Given the description of an element on the screen output the (x, y) to click on. 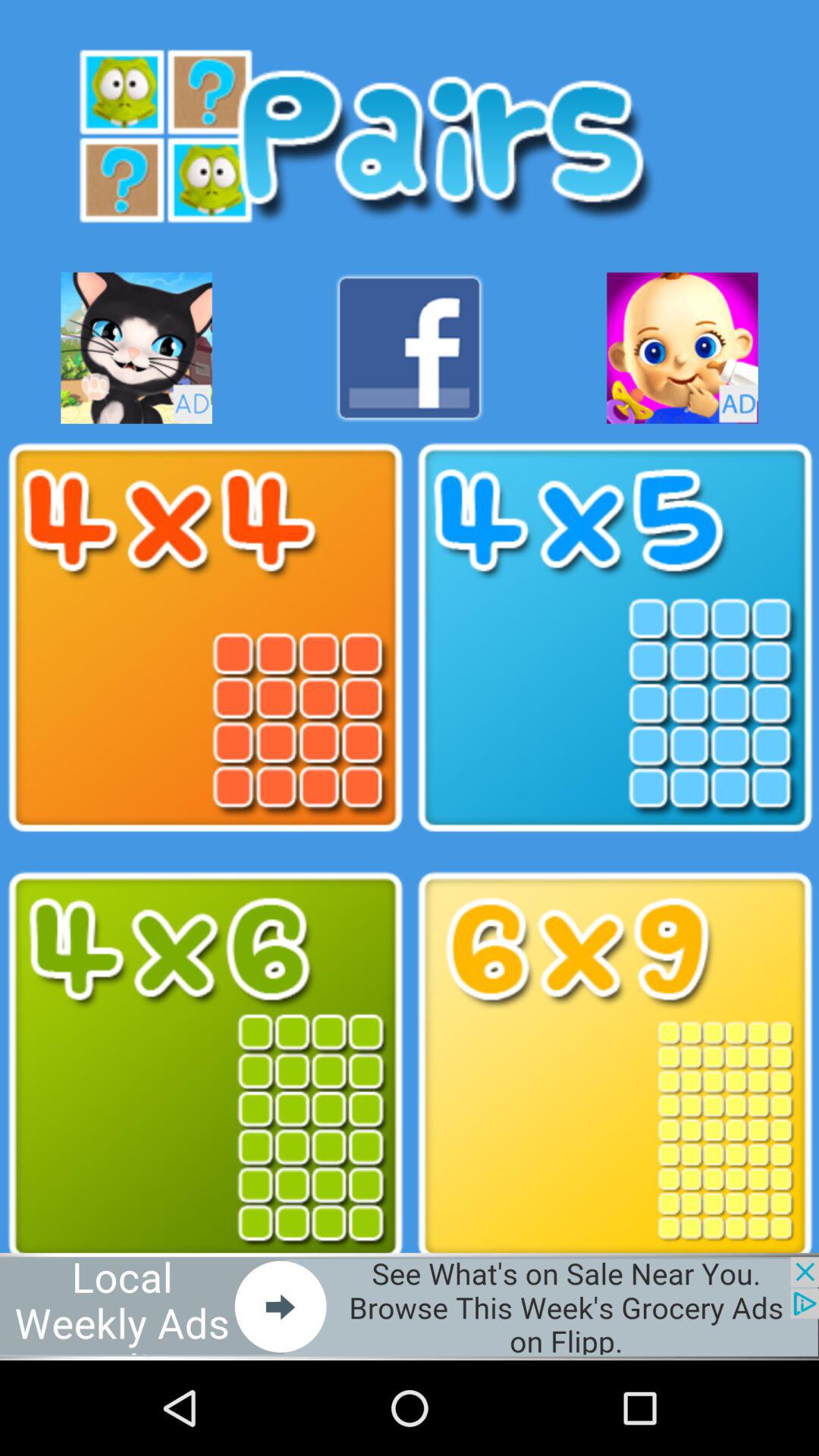
next button (409, 1306)
